Given the description of an element on the screen output the (x, y) to click on. 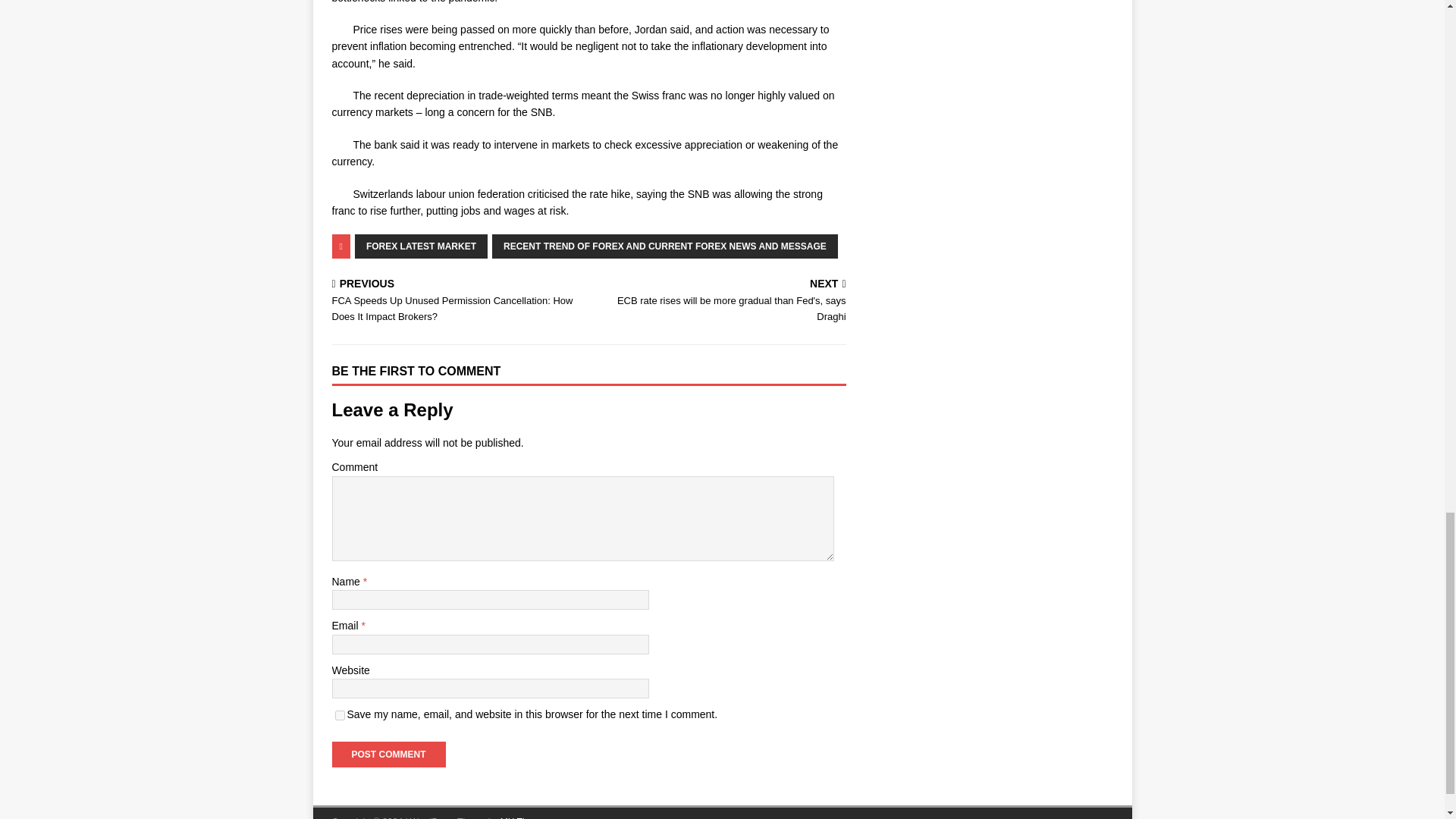
RECENT TREND OF FOREX AND CURRENT FOREX NEWS AND MESSAGE (665, 246)
yes (339, 715)
Post Comment (388, 754)
Post Comment (388, 754)
FOREX LATEST MARKET (421, 246)
